Given the description of an element on the screen output the (x, y) to click on. 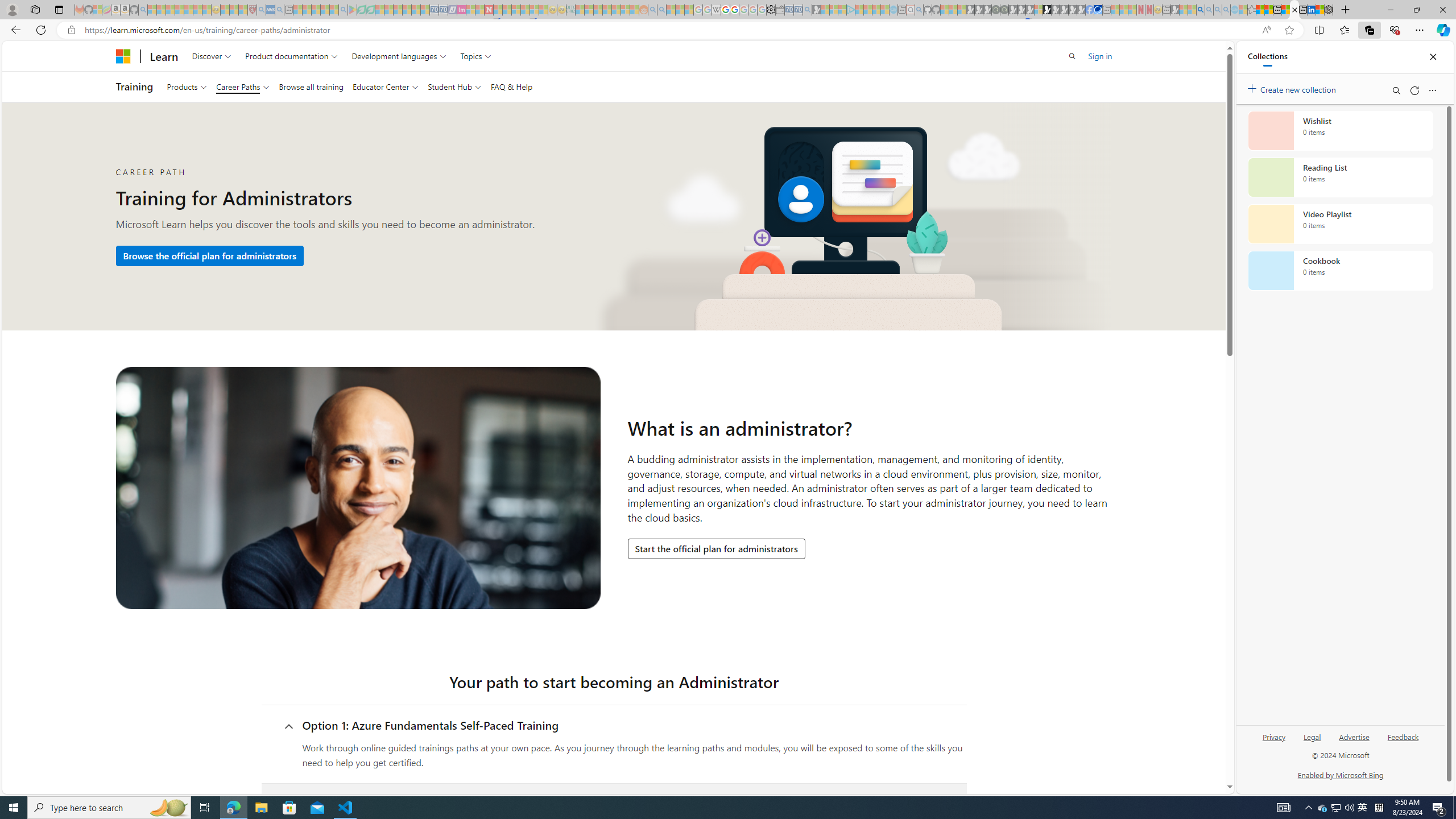
Wishlist collection, 0 items (1339, 130)
Open search (1072, 55)
